Given the description of an element on the screen output the (x, y) to click on. 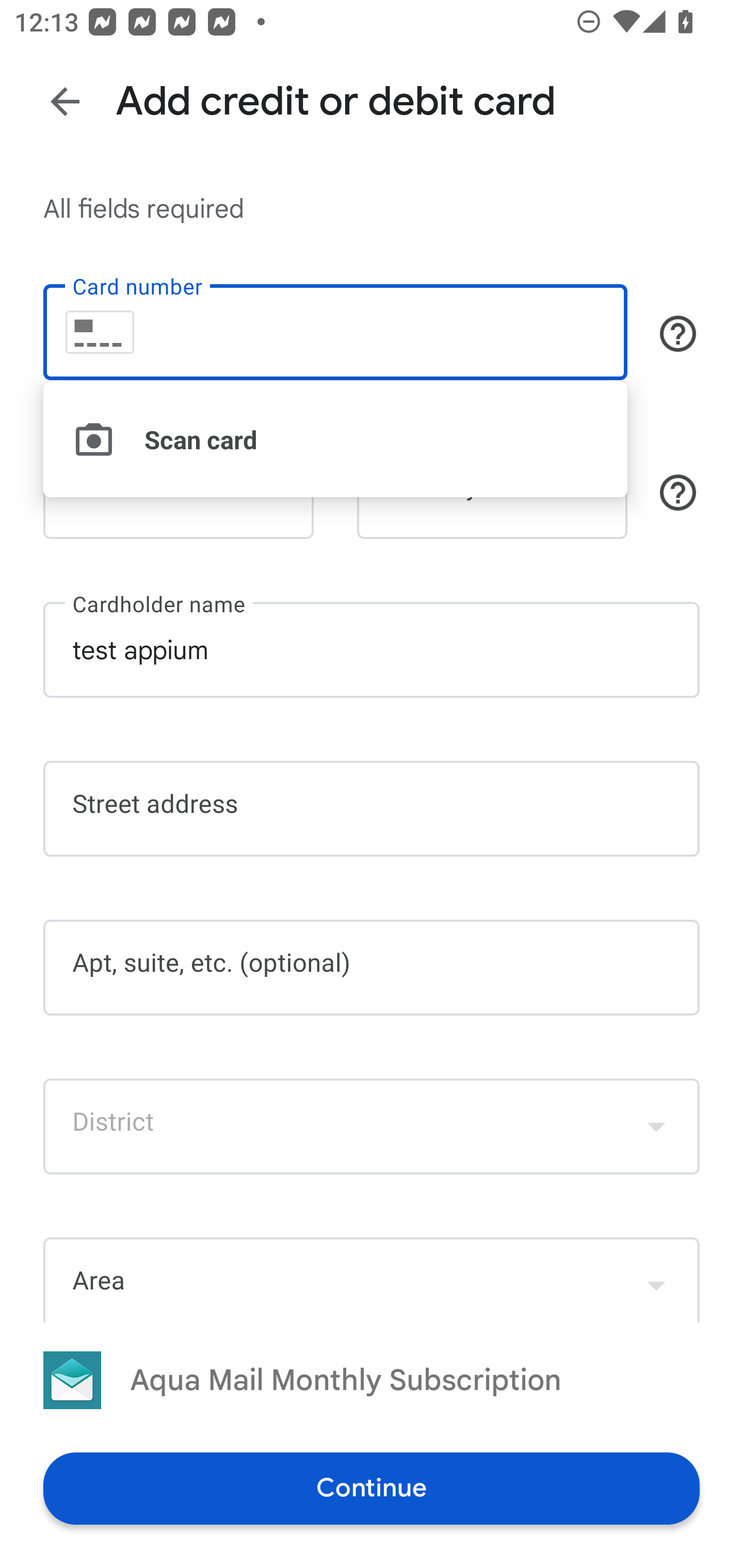
Back (64, 101)
Card number (335, 331)
Button, shows cards that are accepted for payment (677, 333)
Security code help (677, 492)
test appium (371, 649)
Street address (371, 808)
Apt, suite, etc. (optional) (371, 968)
District (371, 1126)
Show dropdown menu (655, 1126)
Area (371, 1279)
Show dropdown menu (655, 1281)
Continue (371, 1487)
